Given the description of an element on the screen output the (x, y) to click on. 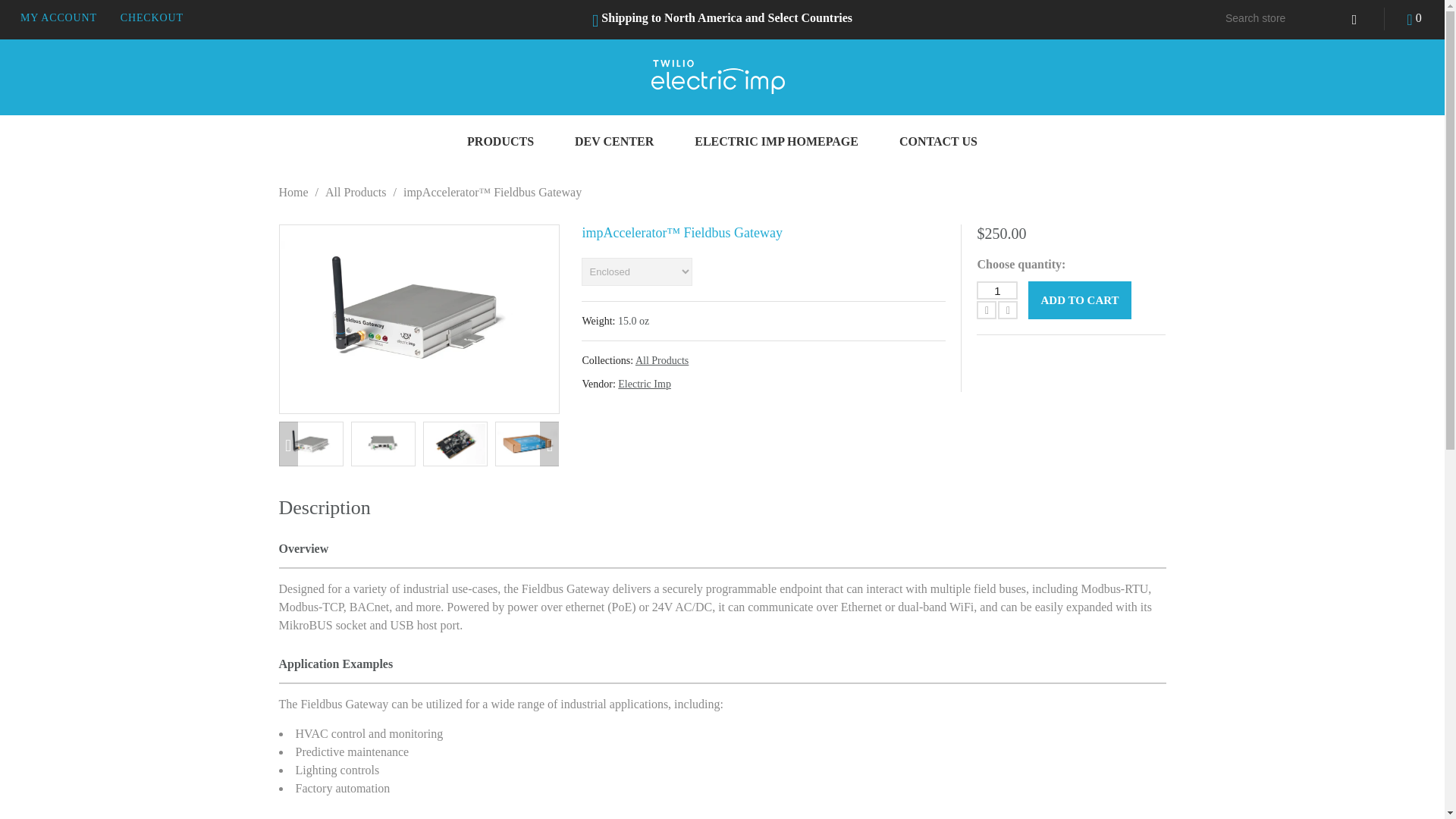
CONTACT US (937, 141)
Home (293, 192)
All Products (354, 192)
Electric Imp (644, 383)
MY ACCOUNT (58, 17)
Back to the frontpage (293, 192)
DEV CENTER (614, 141)
Electric Imp (644, 383)
CHECKOUT (151, 17)
ELECTRIC IMP HOMEPAGE (776, 141)
All Products (354, 192)
ADD TO CART (1079, 300)
PRODUCTS (500, 141)
1 (996, 290)
All Products (661, 360)
